Given the description of an element on the screen output the (x, y) to click on. 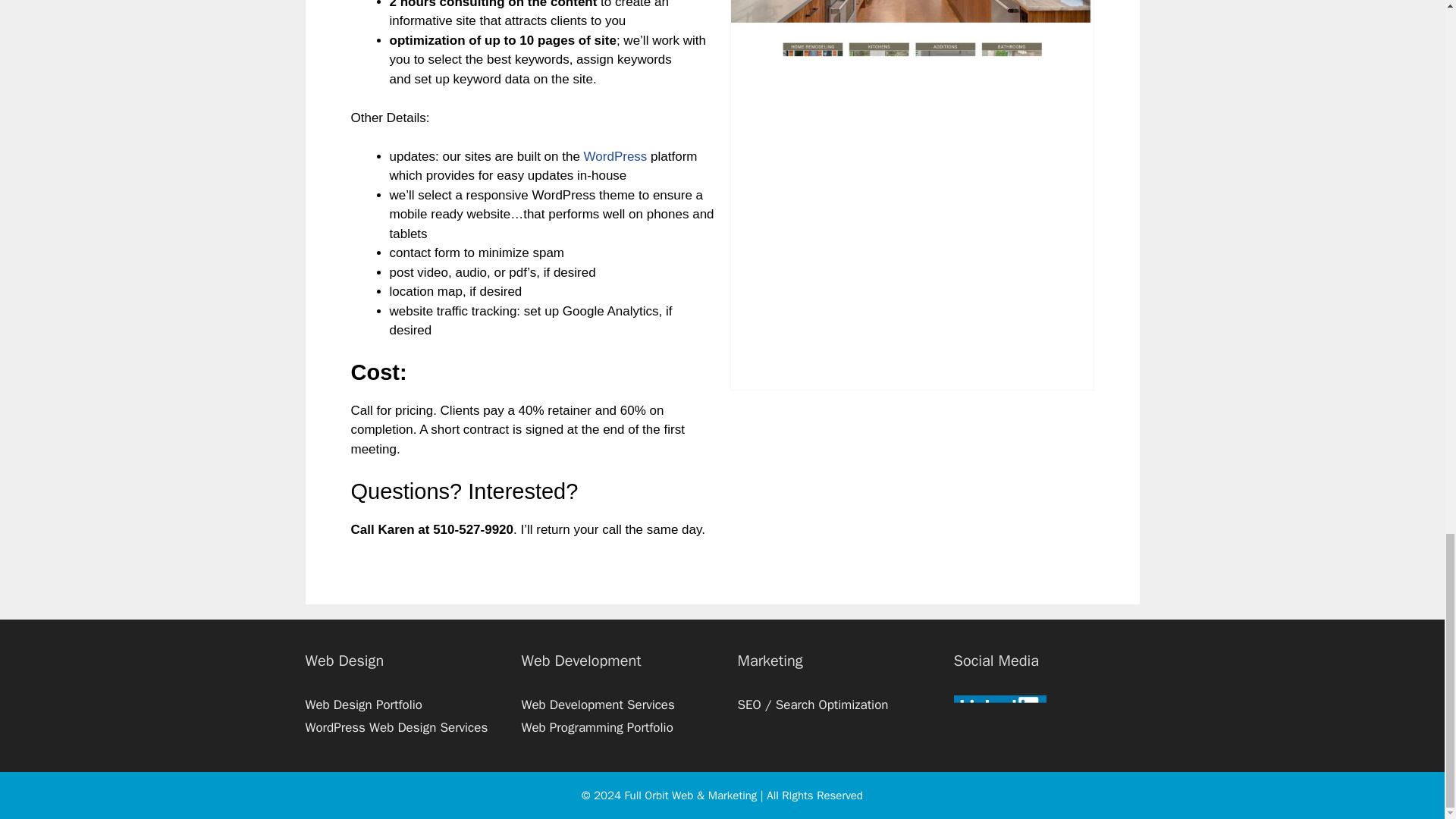
Web Design Portfolio (363, 704)
Web Programming Portfolio (596, 727)
Web Development Services (598, 704)
Web Programming Portfolio (596, 727)
WordPress (615, 156)
WordPress Web Design Services (395, 727)
